Given the description of an element on the screen output the (x, y) to click on. 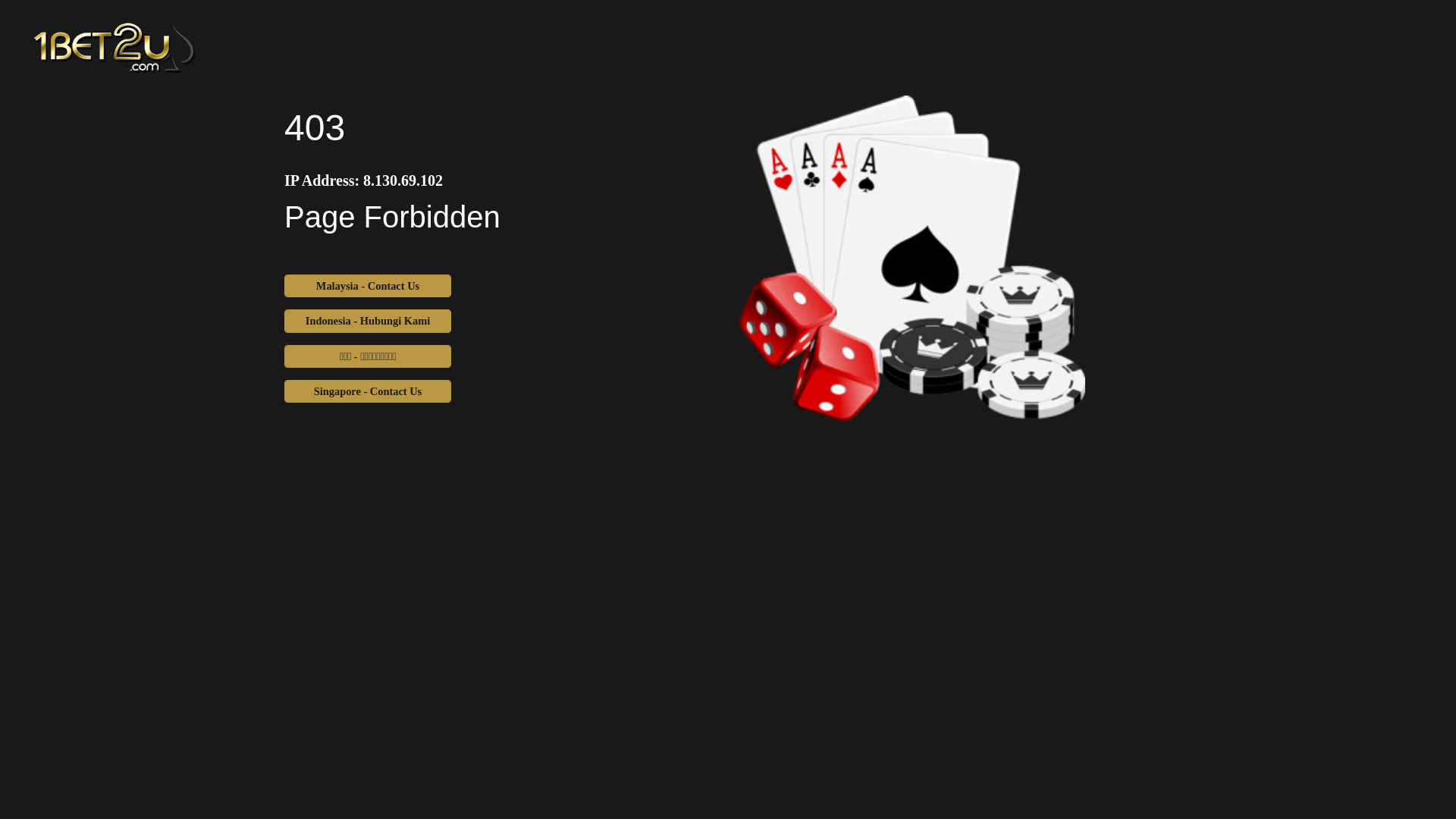
Malaysia - Contact Us Element type: text (367, 285)
Indonesia - Hubungi Kami Element type: text (367, 320)
Singapore - Contact Us Element type: text (367, 390)
